Given the description of an element on the screen output the (x, y) to click on. 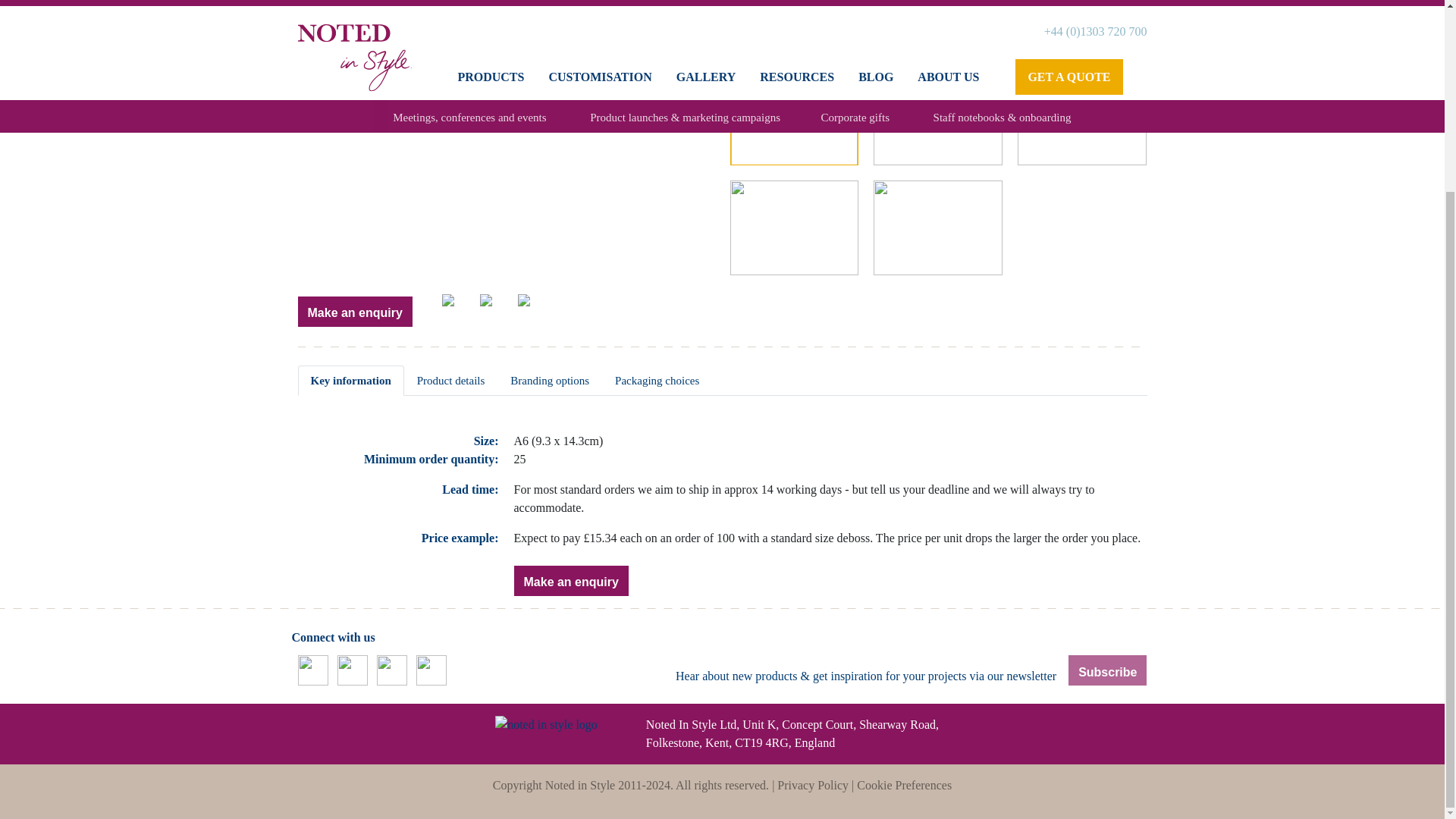
Black (535, 309)
Sapphire Blue (497, 309)
Scarlet Red (460, 309)
